Given the description of an element on the screen output the (x, y) to click on. 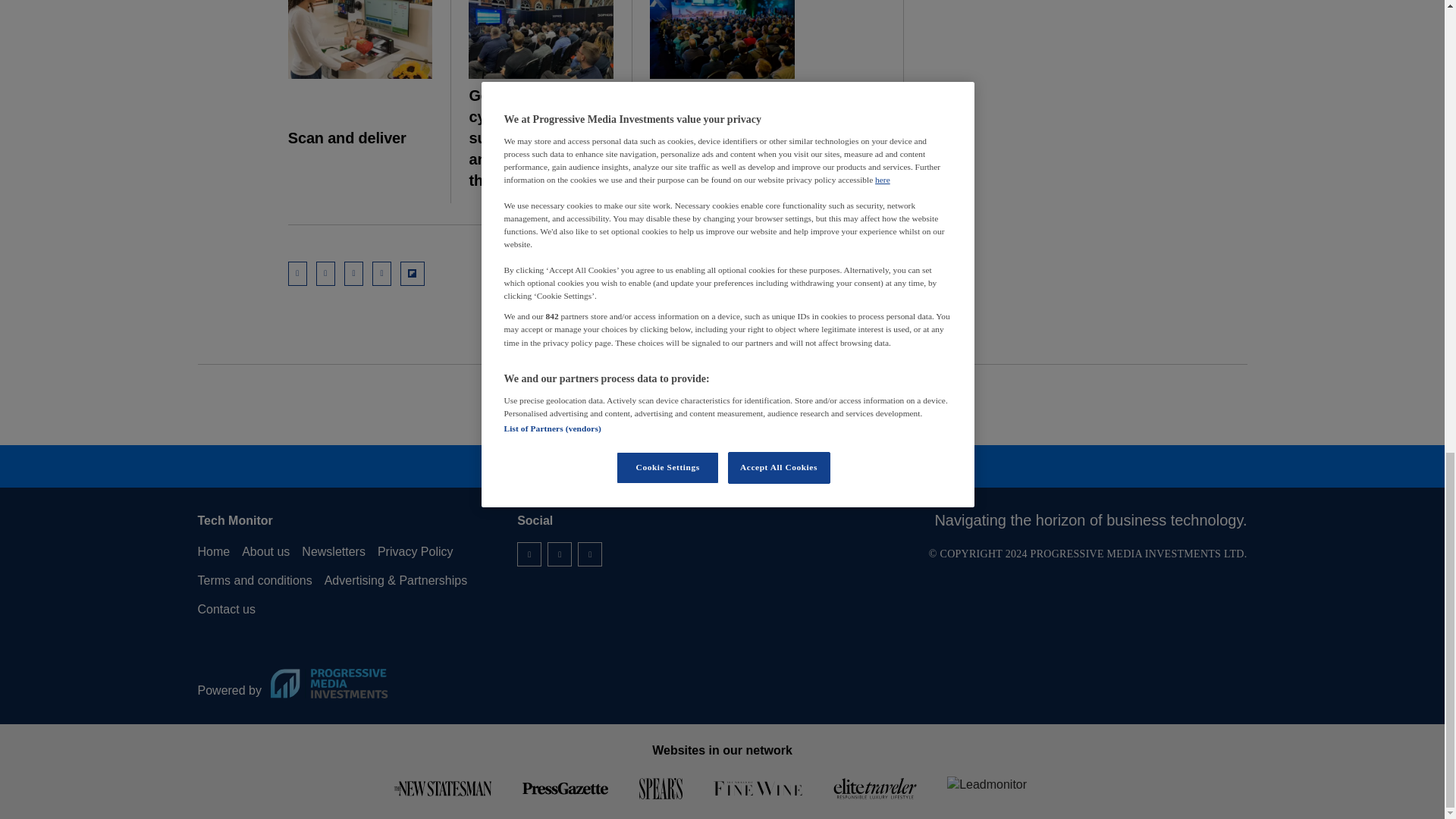
Scan and deliver (360, 39)
Share on Flipboard (412, 273)
